Given the description of an element on the screen output the (x, y) to click on. 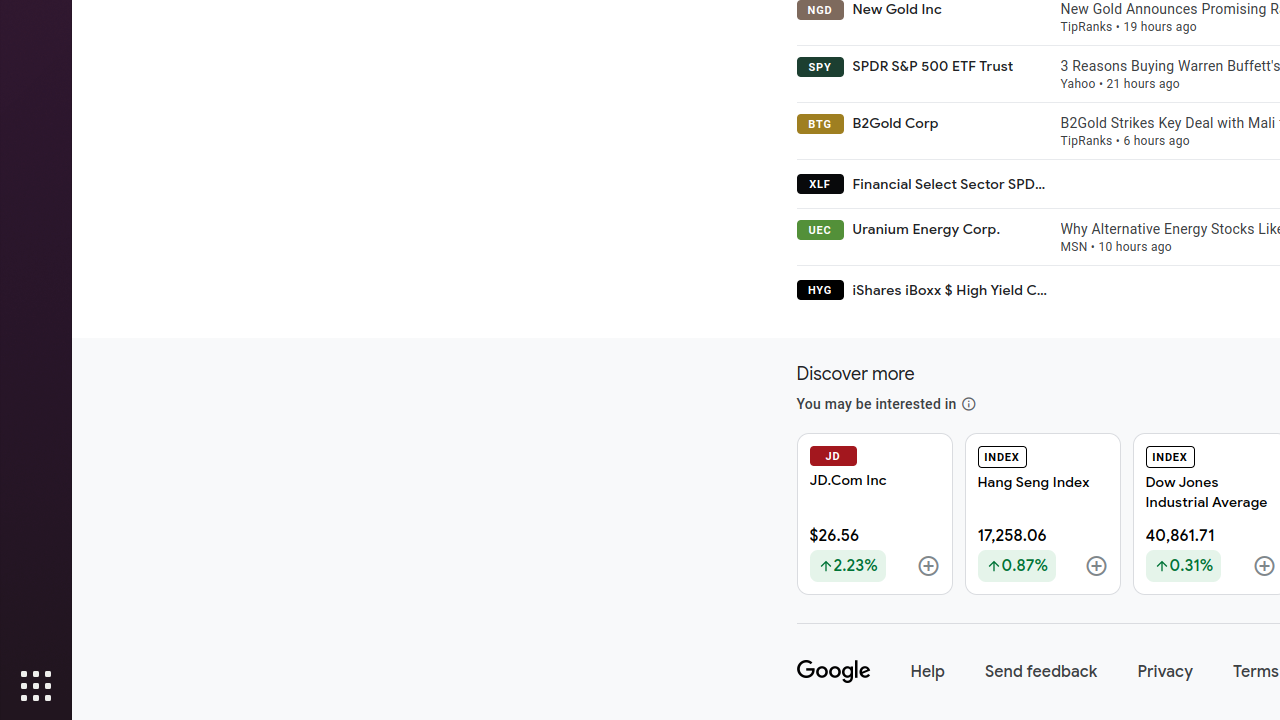
Show Applications Element type: toggle-button (36, 686)
